Given the description of an element on the screen output the (x, y) to click on. 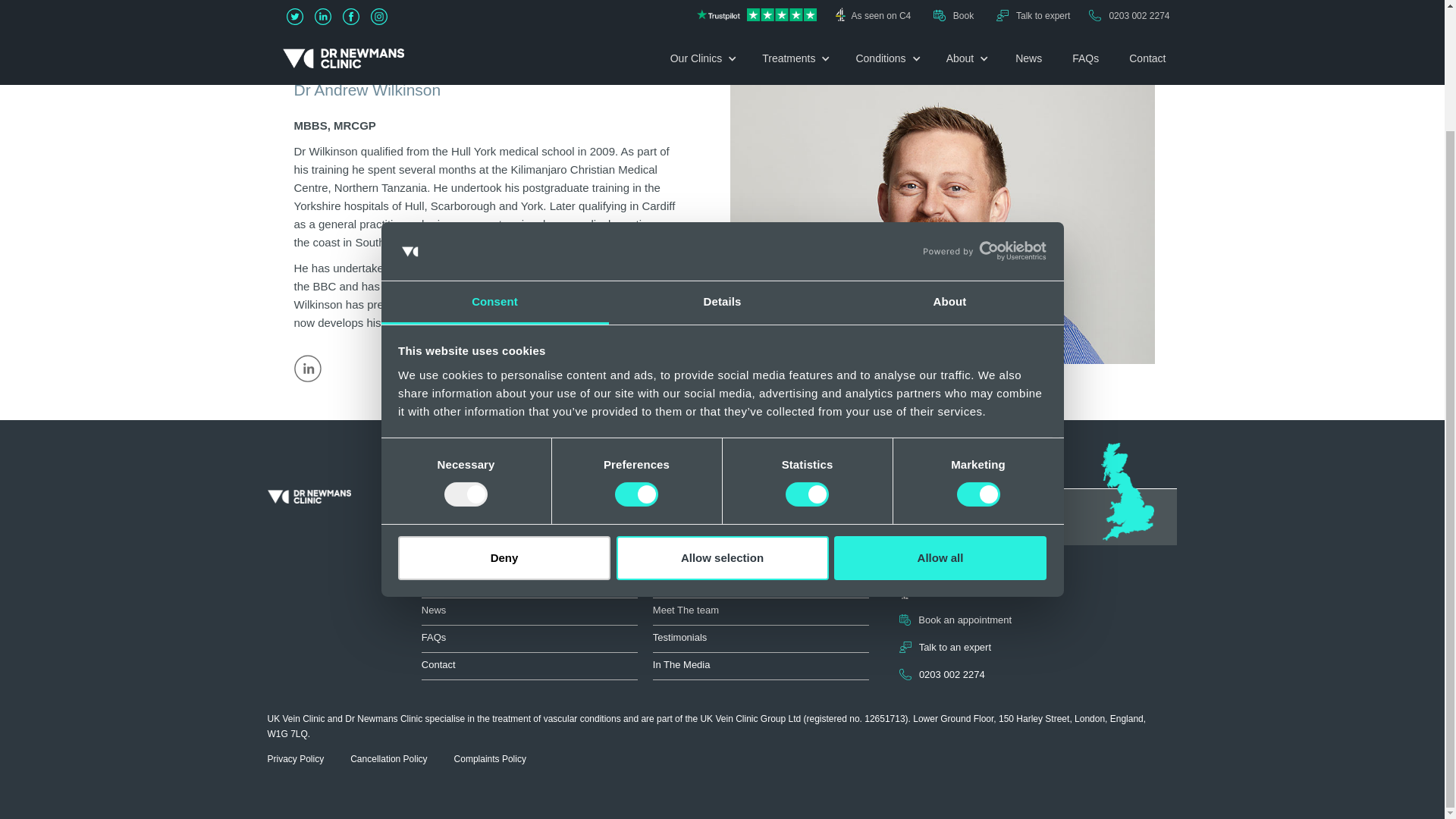
Details (721, 157)
Consent (494, 157)
About (948, 157)
